Given the description of an element on the screen output the (x, y) to click on. 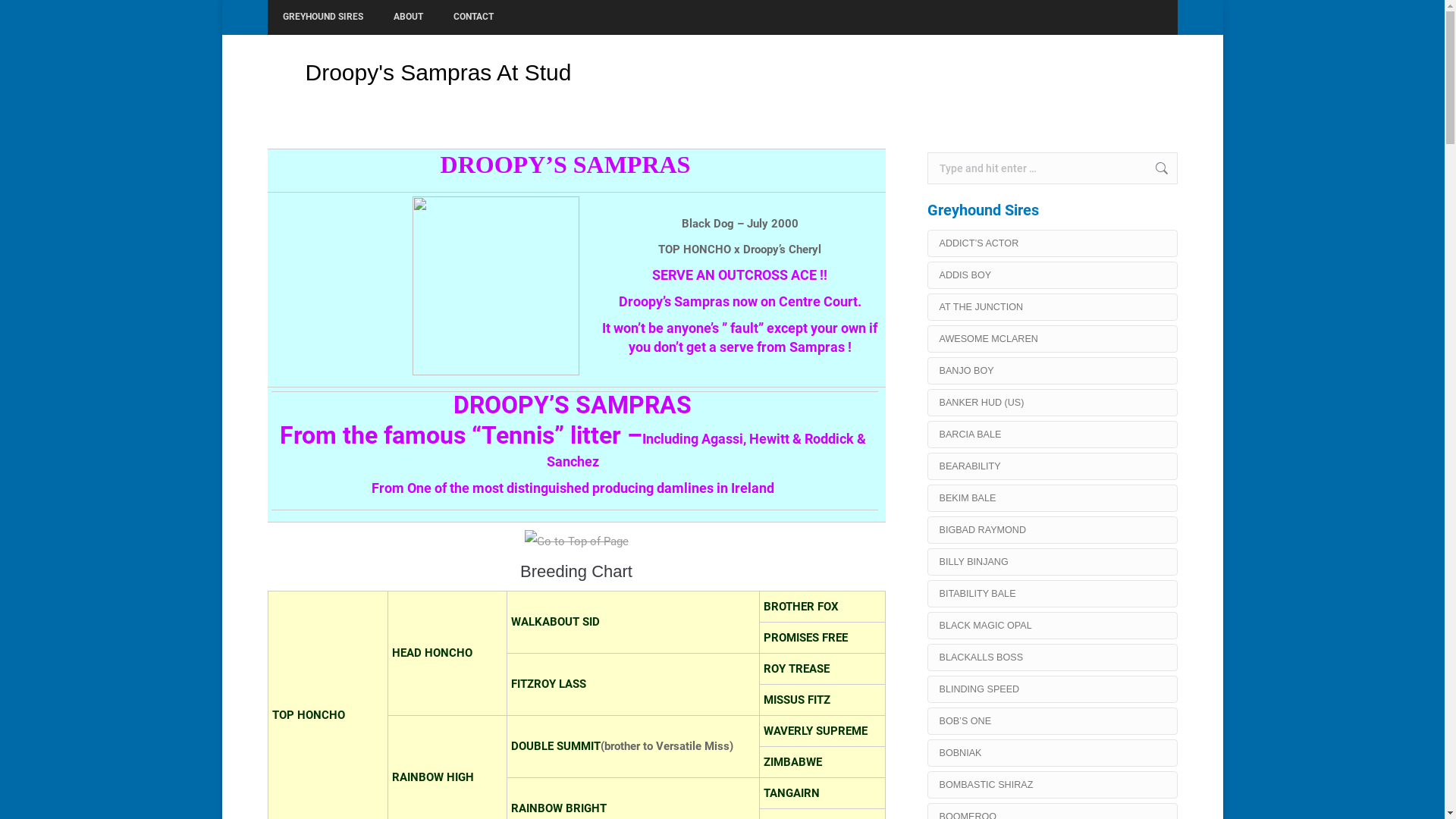
BILLY BINJANG Element type: text (1051, 561)
BIGBAD RAYMOND Element type: text (1051, 529)
AT THE JUNCTION Element type: text (1051, 306)
BEARABILITY Element type: text (1051, 466)
Go! Element type: text (1154, 168)
BANKER HUD (US) Element type: text (1051, 402)
CONTACT Element type: text (473, 17)
BOMBASTIC SHIRAZ Element type: text (1051, 784)
BEKIM BALE Element type: text (1051, 497)
BANJO BOY Element type: text (1051, 370)
BOBNIAK Element type: text (1051, 752)
ABOUT Element type: text (407, 17)
BLACKALLS BOSS Element type: text (1051, 657)
BLACK MAGIC OPAL Element type: text (1051, 625)
AWESOME MCLAREN Element type: text (1051, 338)
BARCIA BALE Element type: text (1051, 434)
BLINDING SPEED Element type: text (1051, 688)
ADDIS BOY Element type: text (1051, 274)
Home Element type: text (1037, 72)
GREYHOUND SIRES Element type: text (321, 17)
BITABILITY BALE Element type: text (1051, 593)
